Given the description of an element on the screen output the (x, y) to click on. 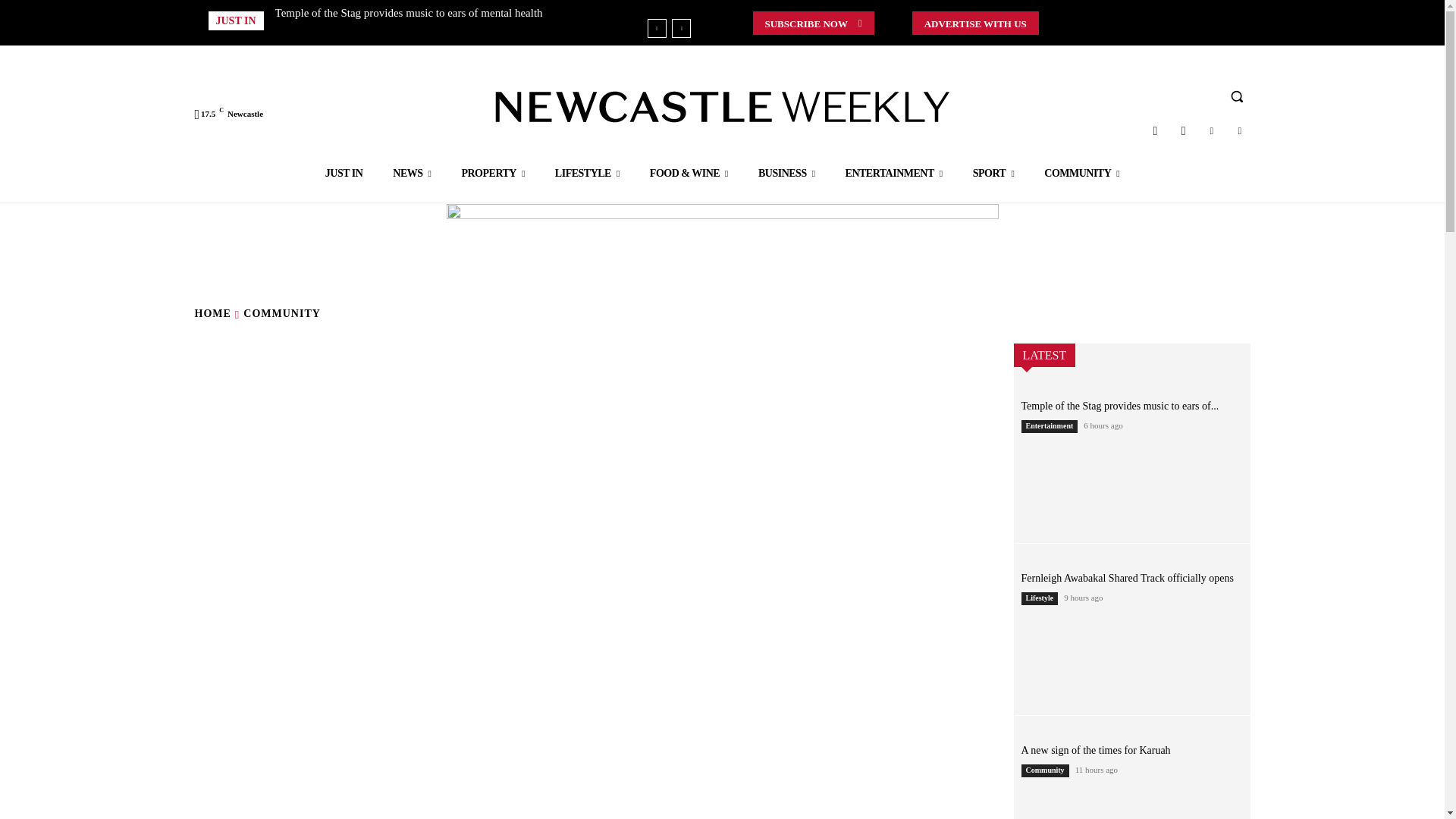
Twitter (1211, 130)
Temple of the Stag provides music to ears of mental health (409, 12)
Temple of the Stag provides music to ears of mental health (409, 12)
SUBSCRIBE NOW (812, 22)
Newscastle Weekly (722, 106)
Instagram (1155, 130)
JUST IN (344, 173)
Facebook (1183, 130)
ADVERTISE WITH US (975, 22)
